Given the description of an element on the screen output the (x, y) to click on. 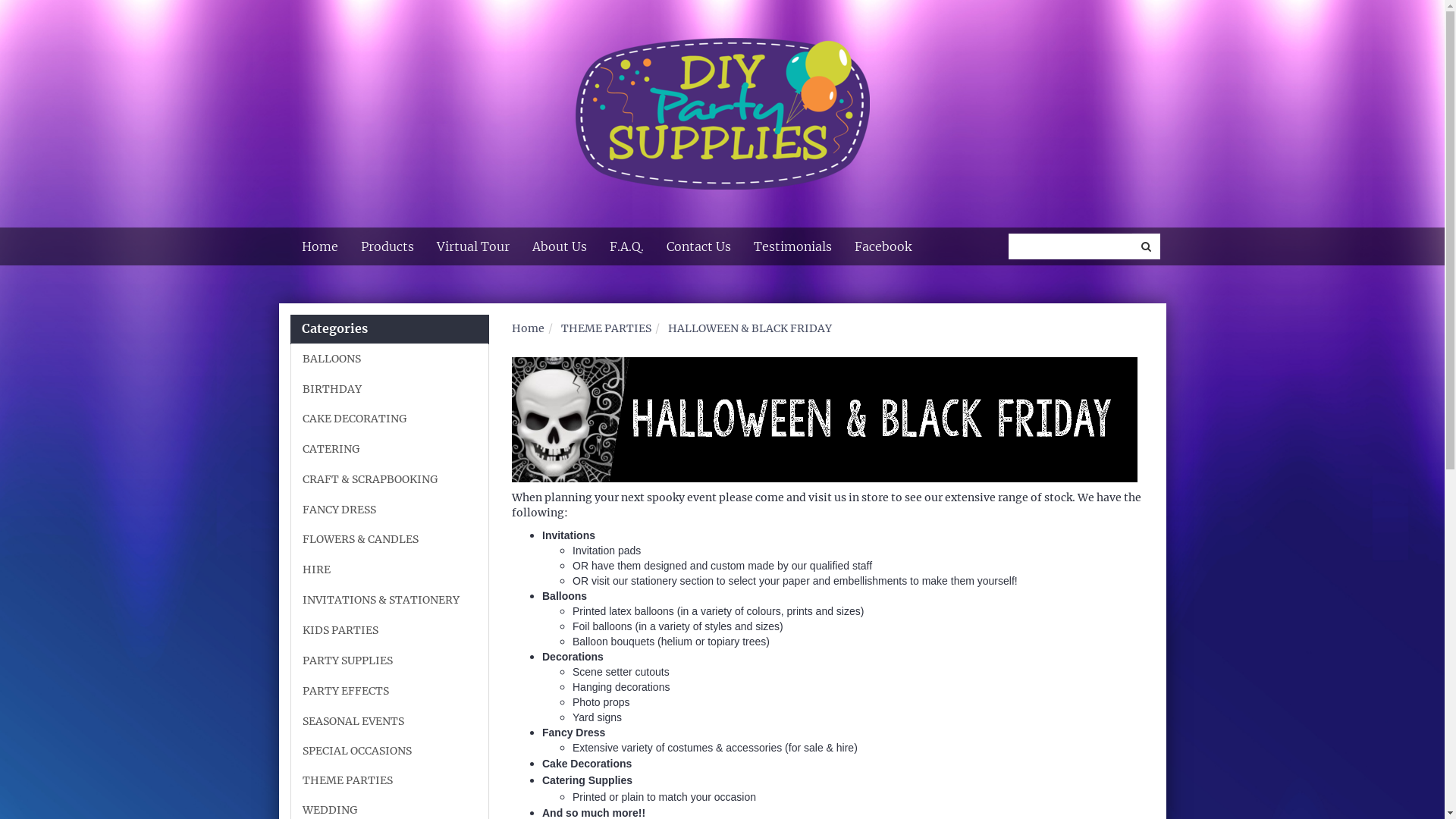
FANCY DRESS Element type: text (390, 509)
CATERING Element type: text (390, 448)
FLOWERS & CANDLES Element type: text (390, 539)
About Us Element type: text (558, 246)
DIY Party Supplies Element type: hover (721, 105)
THEME PARTIES Element type: text (390, 780)
CRAFT & SCRAPBOOKING Element type: text (390, 479)
SEASONAL EVENTS Element type: text (390, 721)
Facebook Element type: text (882, 246)
Home Element type: text (318, 246)
CAKE DECORATING Element type: text (390, 418)
BIRTHDAY Element type: text (390, 388)
KIDS PARTIES Element type: text (390, 630)
PARTY EFFECTS Element type: text (390, 690)
Home Element type: text (527, 328)
F.A.Q. Element type: text (625, 246)
HALLOWEEN & BLACK FRIDAY Element type: text (749, 328)
PARTY SUPPLIES Element type: text (390, 660)
Virtual Tour Element type: text (472, 246)
BALLOONS Element type: text (390, 358)
Products Element type: text (386, 246)
INVITATIONS & STATIONERY Element type: text (390, 599)
Contact Us Element type: text (698, 246)
SPECIAL OCCASIONS Element type: text (390, 750)
Search Element type: text (1145, 246)
HIRE Element type: text (390, 569)
THEME PARTIES Element type: text (606, 328)
Testimonials Element type: text (791, 246)
